Given the description of an element on the screen output the (x, y) to click on. 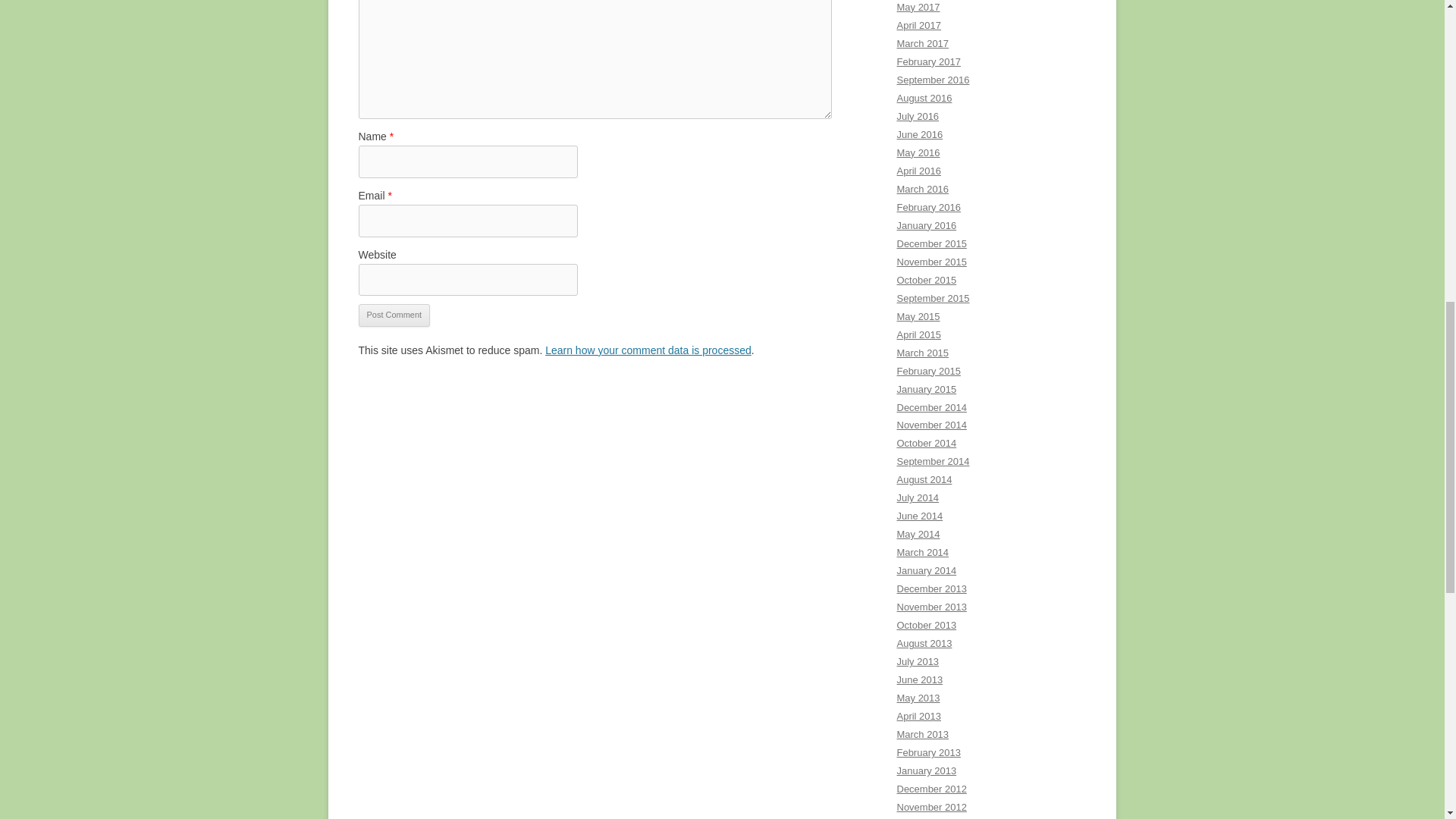
Post Comment (393, 314)
Post Comment (393, 314)
Learn how your comment data is processed (647, 349)
May 2017 (917, 7)
